Given the description of an element on the screen output the (x, y) to click on. 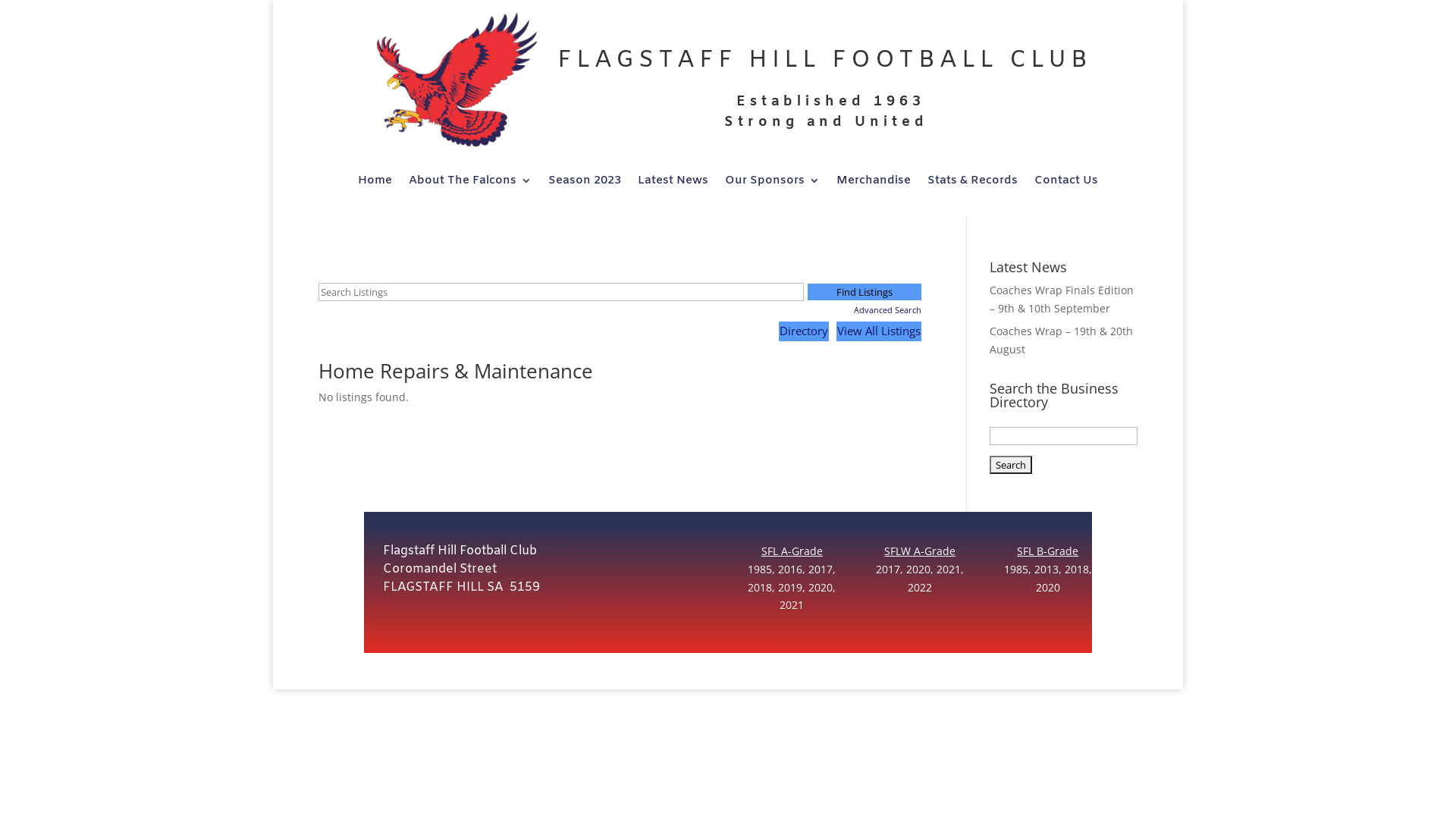
Advanced Search Element type: text (864, 310)
Falcons Logo 2 Element type: hover (452, 84)
Search Element type: text (1010, 464)
Stats & Records Element type: text (972, 183)
Find Listings Element type: text (864, 291)
Home Element type: text (374, 183)
Merchandise Element type: text (873, 183)
Directory Element type: text (803, 331)
Our Sponsors Element type: text (771, 183)
Contact Us Element type: text (1066, 183)
Quick search keywords Element type: hover (560, 291)
Season 2023 Element type: text (584, 183)
About The Falcons Element type: text (469, 183)
Latest News Element type: text (672, 183)
View All Listings Element type: text (878, 331)
